Given the description of an element on the screen output the (x, y) to click on. 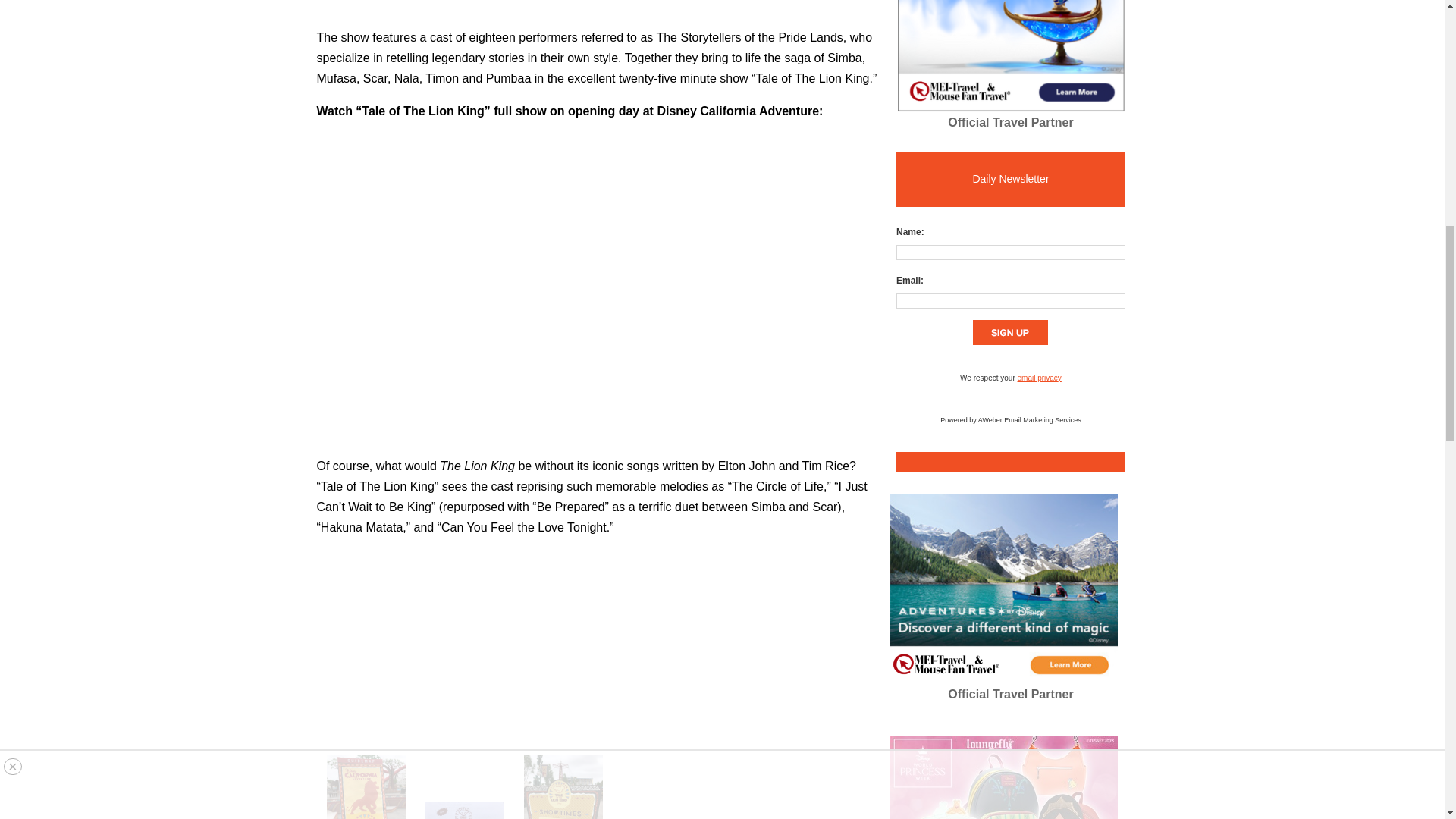
Privacy Policy (1039, 377)
